Given the description of an element on the screen output the (x, y) to click on. 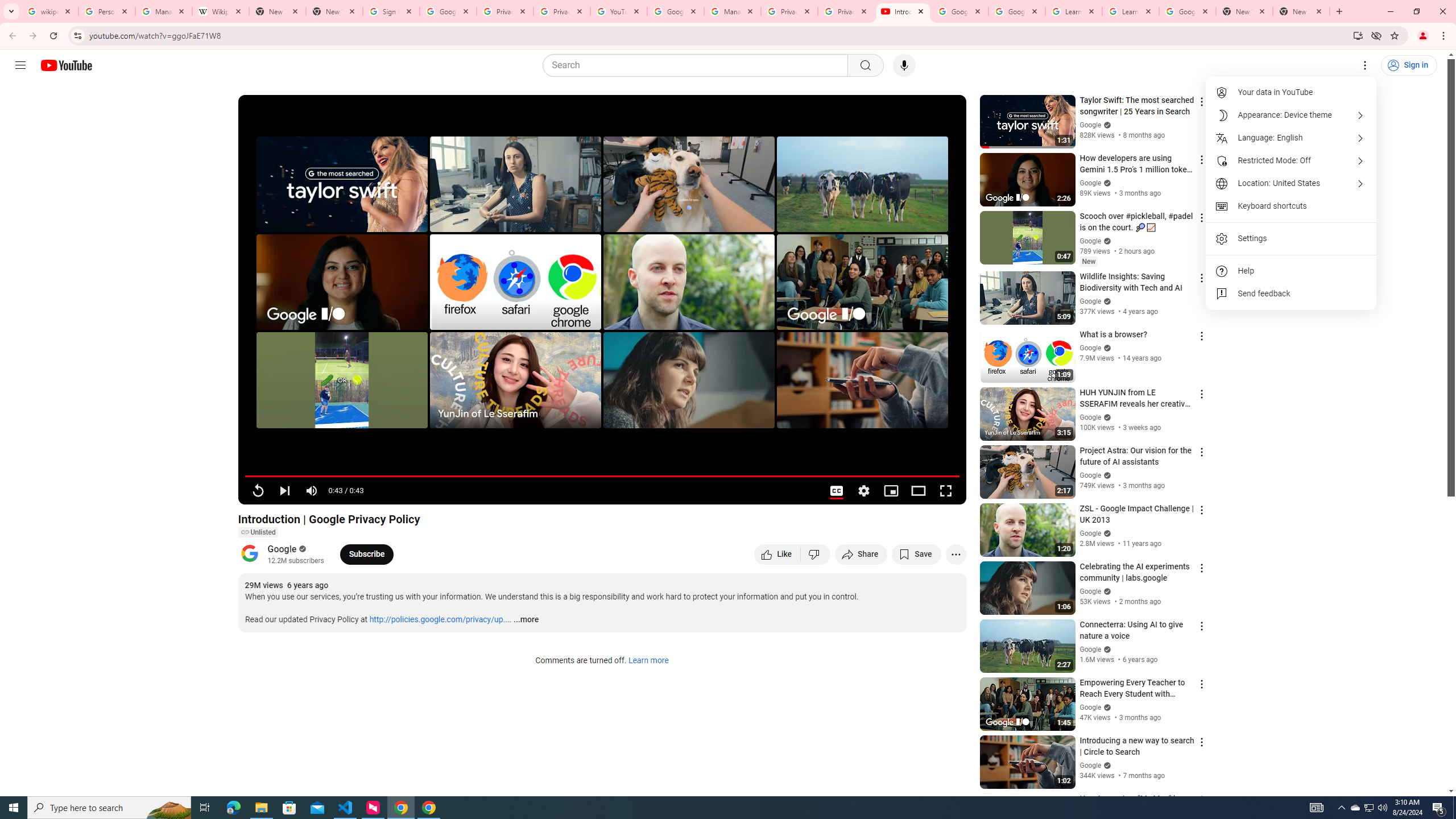
Sign in - Google Accounts (391, 11)
Seek slider (601, 476)
Full screen (f) (945, 490)
Save to playlist (915, 554)
Theater mode (t) (917, 490)
Google Account Help (675, 11)
